Given the description of an element on the screen output the (x, y) to click on. 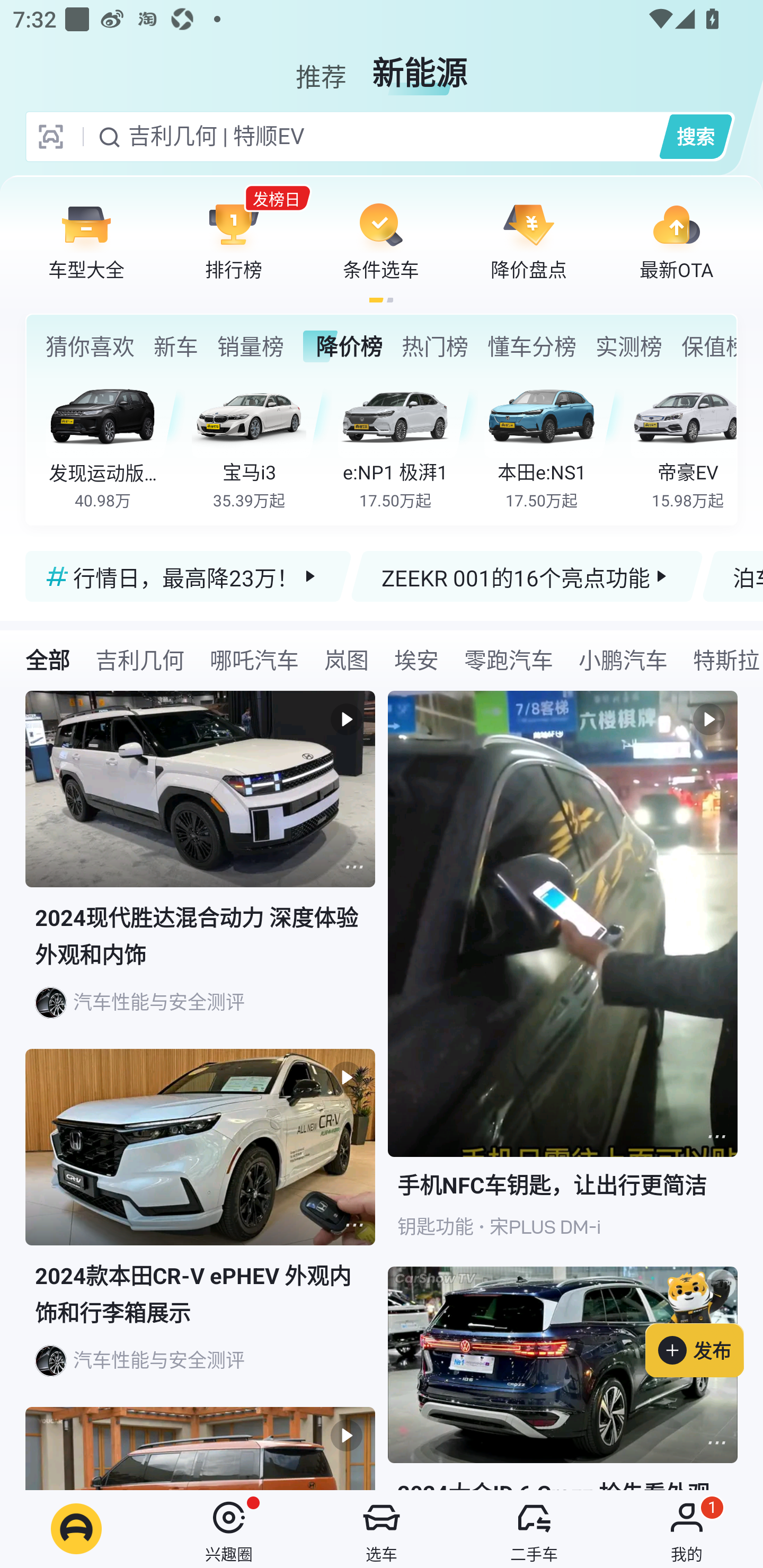
推荐 (321, 65)
新能源 (419, 65)
搜索 (695, 136)
车型大全 (86, 240)
发榜日 排行榜 (233, 240)
条件选车 (380, 240)
降价盘点 (528, 240)
最新OTA (676, 240)
猜你喜欢 (89, 346)
新车 (175, 346)
销量榜 (250, 346)
降价榜 (342, 346)
热门榜 (434, 346)
懂车分榜 (531, 346)
实测榜 (628, 346)
保值榜 (708, 346)
发现运动版PHEV 40.98万 (115, 442)
宝马i3 35.39万起 (261, 442)
e:NP1 极湃1 17.50万起 (407, 442)
本田e:NS1 17.50万起 (554, 442)
帝豪EV 15.98万起 (683, 442)
行情日，最高降23万！ (188, 576)
ZEEKR 001的16个亮点功能 (526, 576)
全部 (47, 659)
吉利几何 (139, 659)
哪吒汽车 (253, 659)
岚图 (346, 659)
埃安 (416, 659)
零跑汽车 (508, 659)
小鹏汽车 (623, 659)
特斯拉 (721, 659)
  2024现代胜达混合动力 深度体验外观和内饰 汽车性能与安全测评 (200, 869)
  手机NFC车钥匙，让出行更简洁 钥匙功能 宋PLUS DM-i (562, 978)
 (354, 867)
  2024款本田CR-V ePHEV 外观内饰和行李箱展示 汽车性能与安全测评 (200, 1227)
 (716, 1136)
宋PLUS DM-i (545, 1226)
 (354, 1224)
发布 (704, 1320)
  2024大众ID.6 Crozz 抢先看外观和内饰 (562, 1377)
 (716, 1442)
 兴趣圈 (228, 1528)
 选车 (381, 1528)
 二手车 (533, 1528)
 我的 (686, 1528)
